Given the description of an element on the screen output the (x, y) to click on. 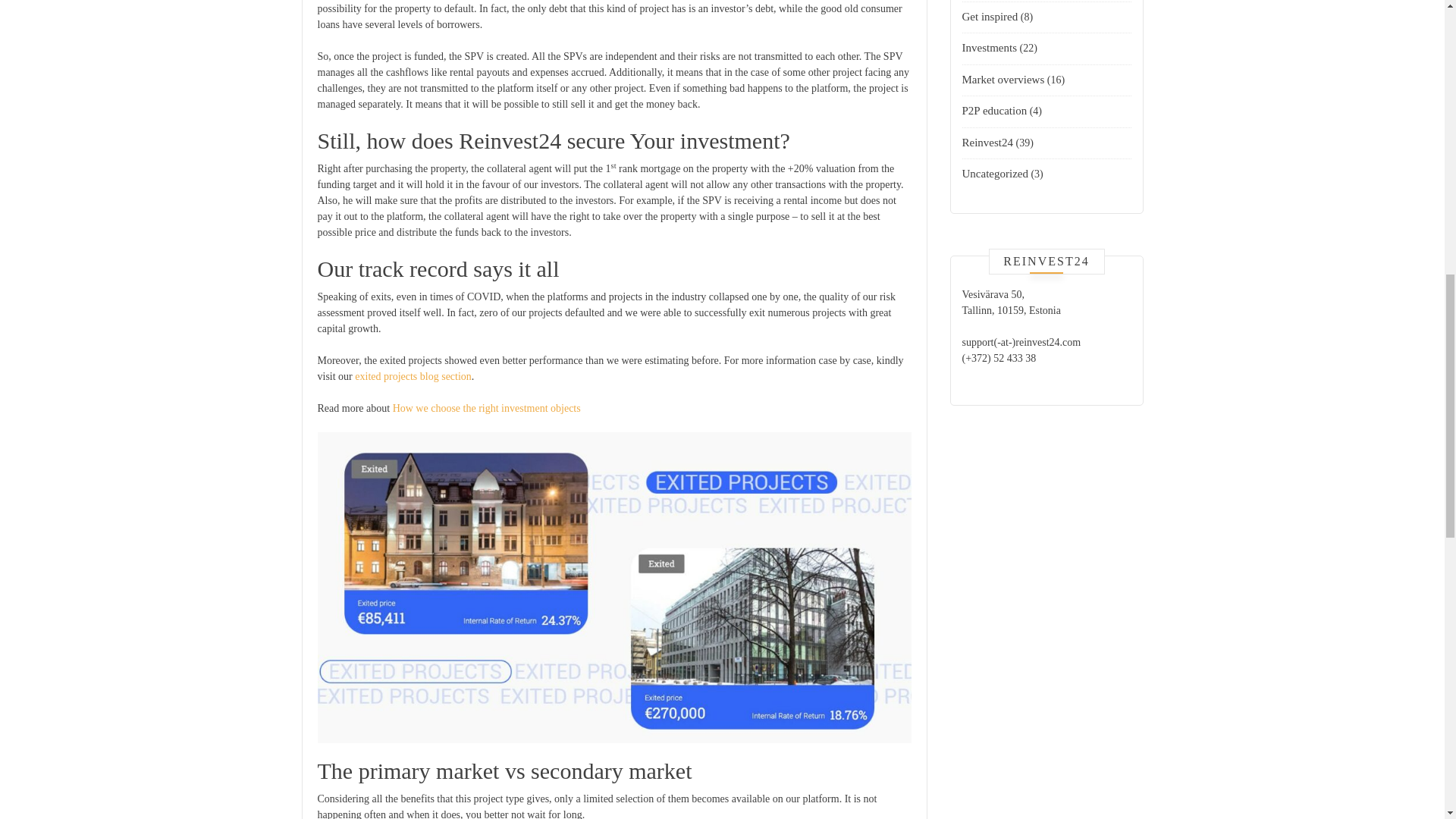
Investments (988, 47)
Reinvest24 (986, 142)
How we choose the right investment objects (486, 408)
Market overviews (1001, 79)
P2P education (993, 110)
Uncategorized (993, 173)
Get inspired (988, 16)
exited projects blog section (411, 376)
